Given the description of an element on the screen output the (x, y) to click on. 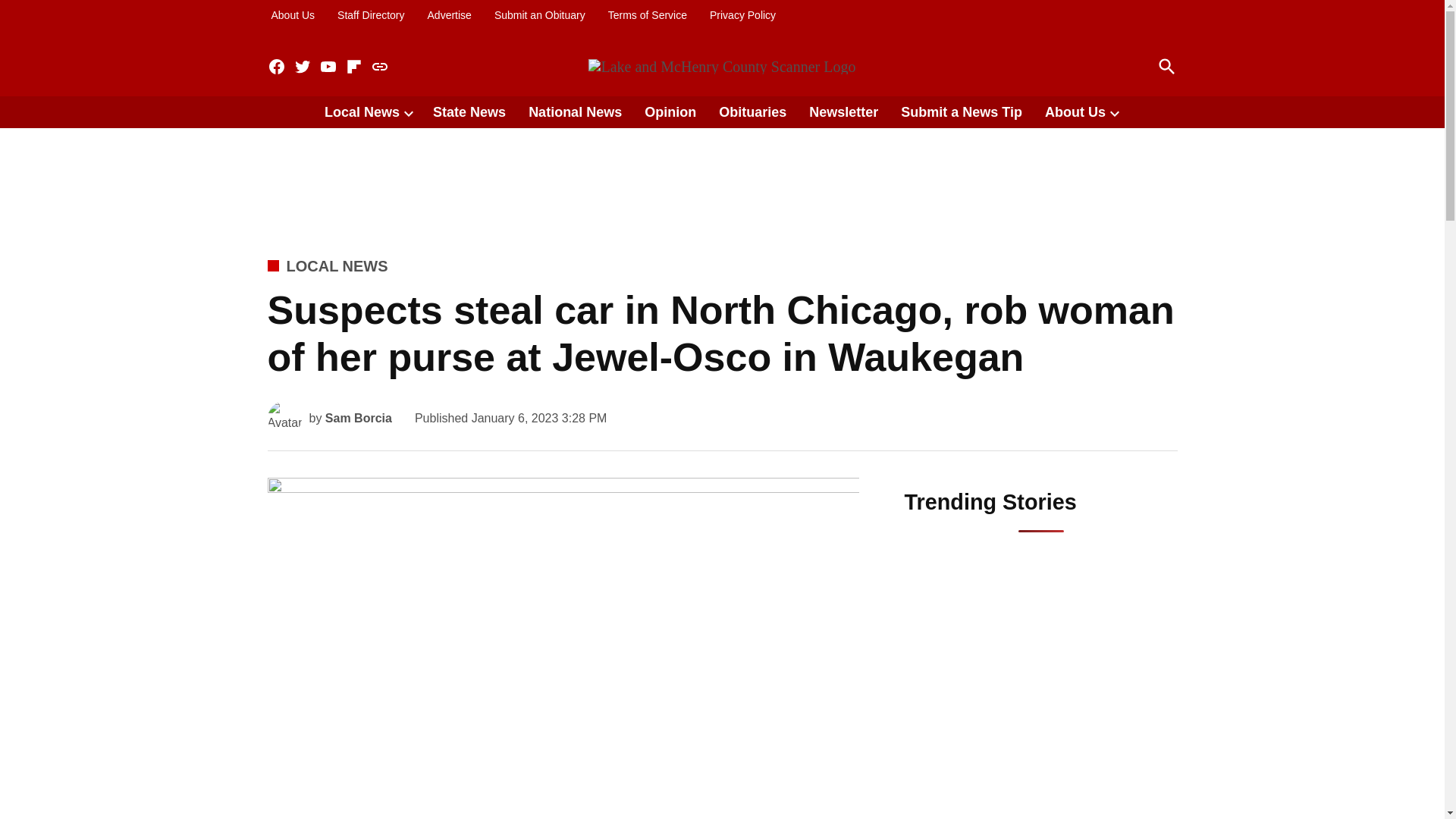
Submit an Obituary (539, 14)
Privacy Policy (742, 14)
Staff Directory (370, 14)
Advertise (449, 14)
Facebook (275, 66)
Terms of Service (647, 14)
About Us (292, 14)
